Given the description of an element on the screen output the (x, y) to click on. 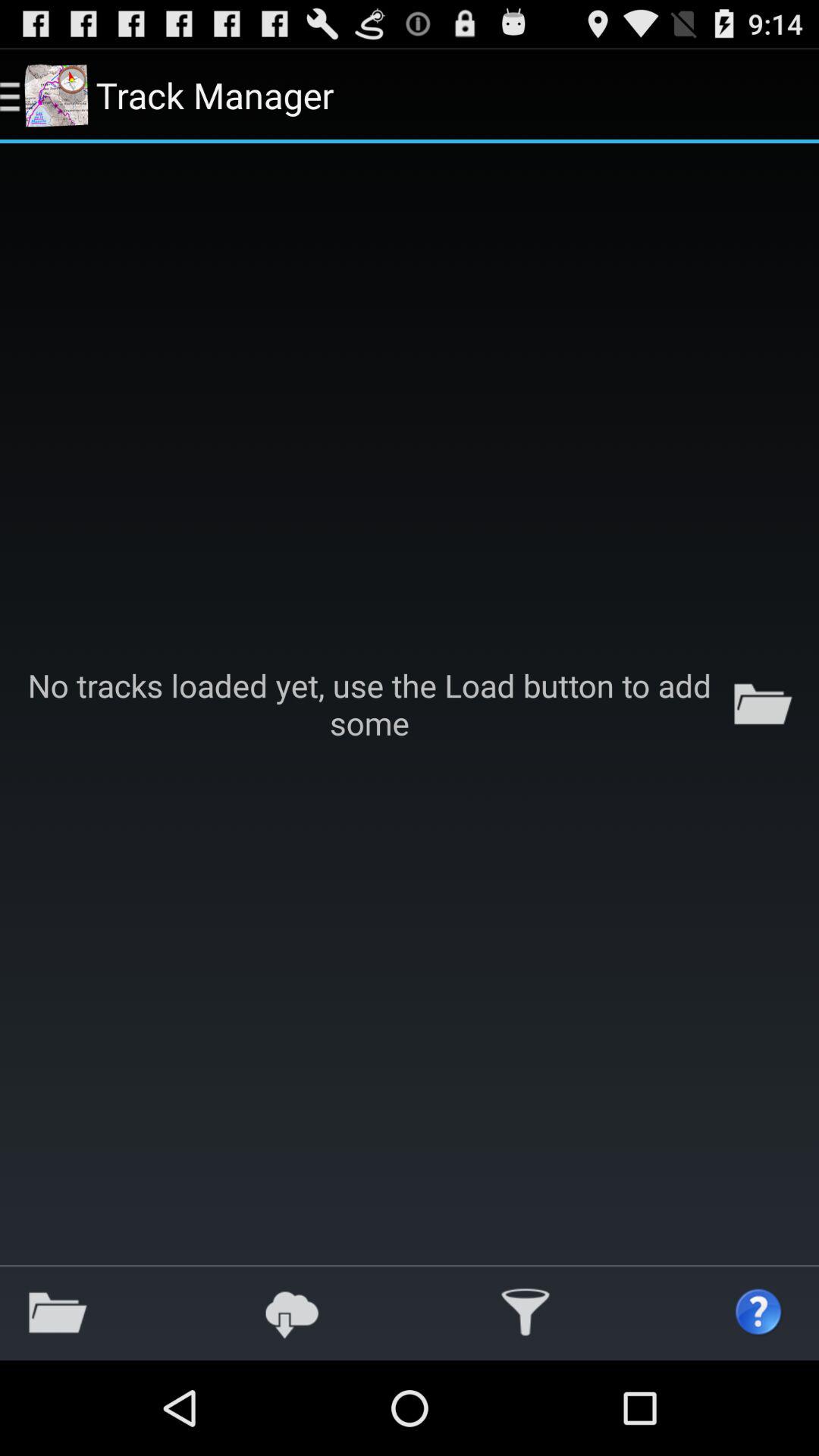
turn on the icon at the bottom left corner (58, 1312)
